Given the description of an element on the screen output the (x, y) to click on. 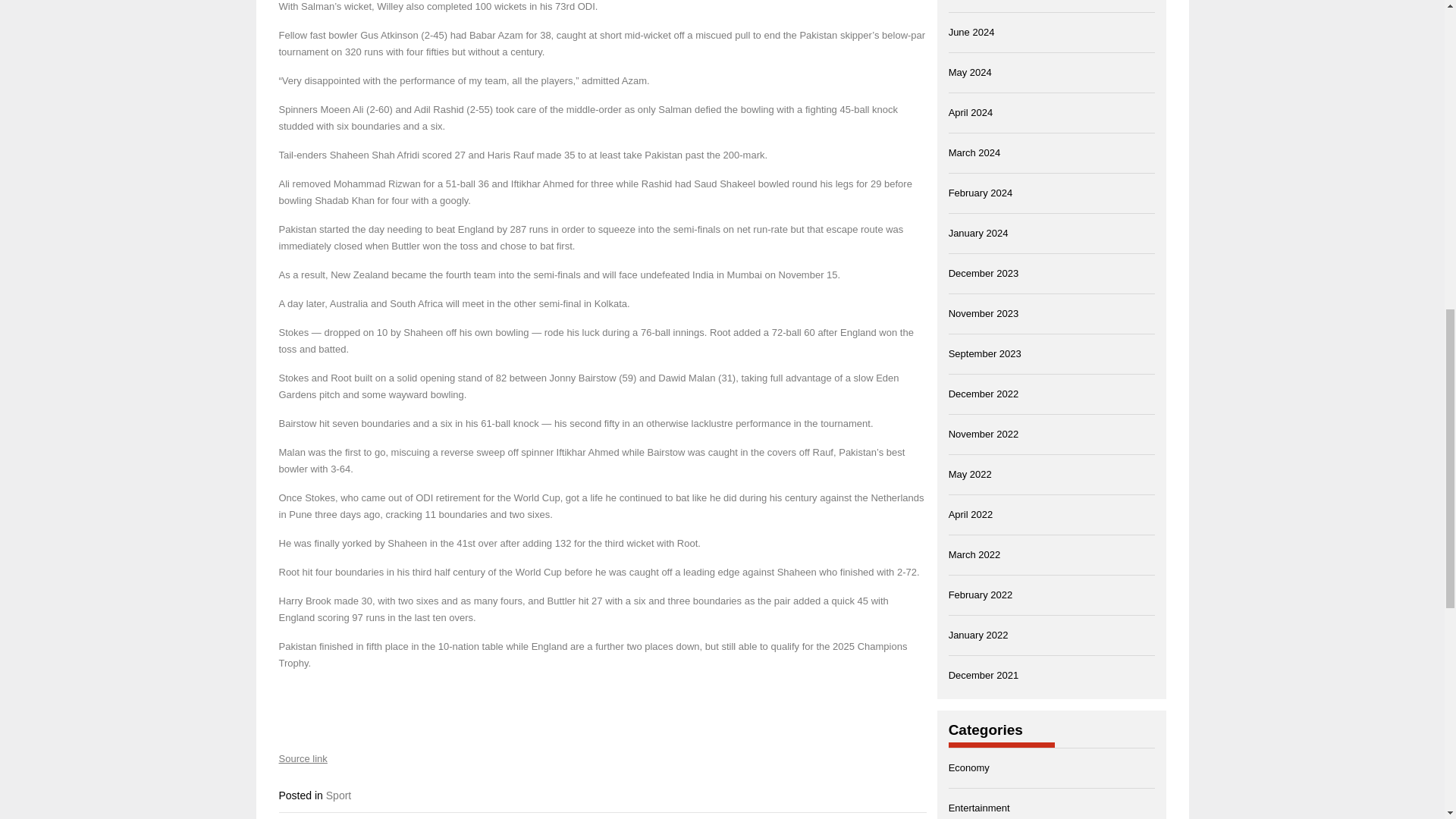
May 2024 (970, 71)
Sport (338, 795)
March 2024 (975, 152)
June 2024 (971, 31)
April 2024 (970, 112)
Source link (303, 758)
